Given the description of an element on the screen output the (x, y) to click on. 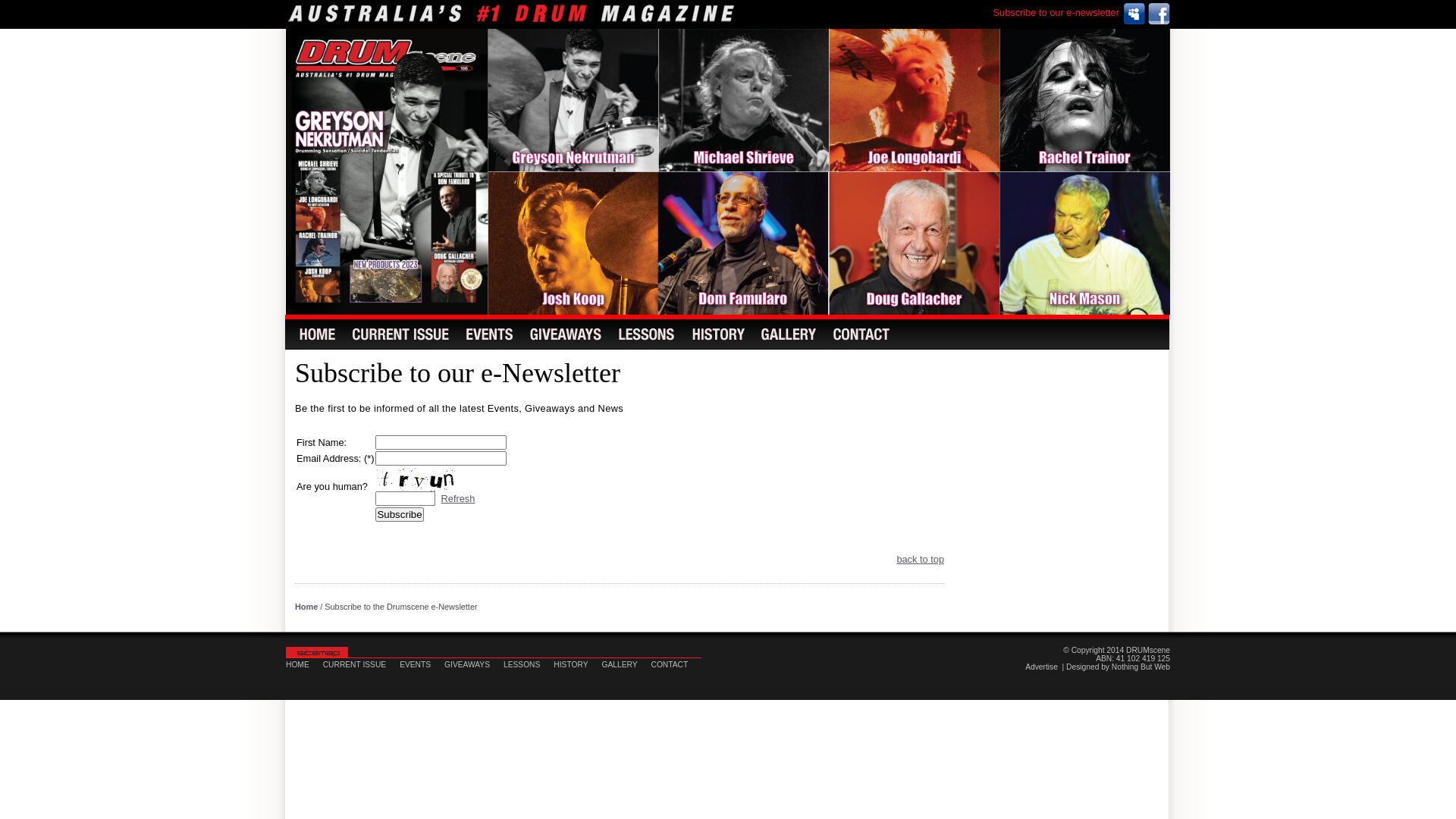
Advertise Element type: text (1041, 666)
HOME Element type: text (304, 664)
back to top Element type: text (920, 558)
LESSONS Element type: text (528, 664)
Designed by Nothing But Web Element type: text (1118, 666)
CURRENT ISSUE Element type: text (361, 664)
Subscribe to our e-newsletter Element type: text (1055, 10)
Home Element type: text (305, 606)
GALLERY Element type: text (625, 664)
HISTORY Element type: text (577, 664)
Subscribe Element type: text (399, 514)
DRUMscene Element type: text (1148, 650)
EVENTS Element type: text (421, 664)
CONTACT Element type: text (675, 664)
GIVEAWAYS Element type: text (473, 664)
Refresh Element type: text (458, 498)
